Given the description of an element on the screen output the (x, y) to click on. 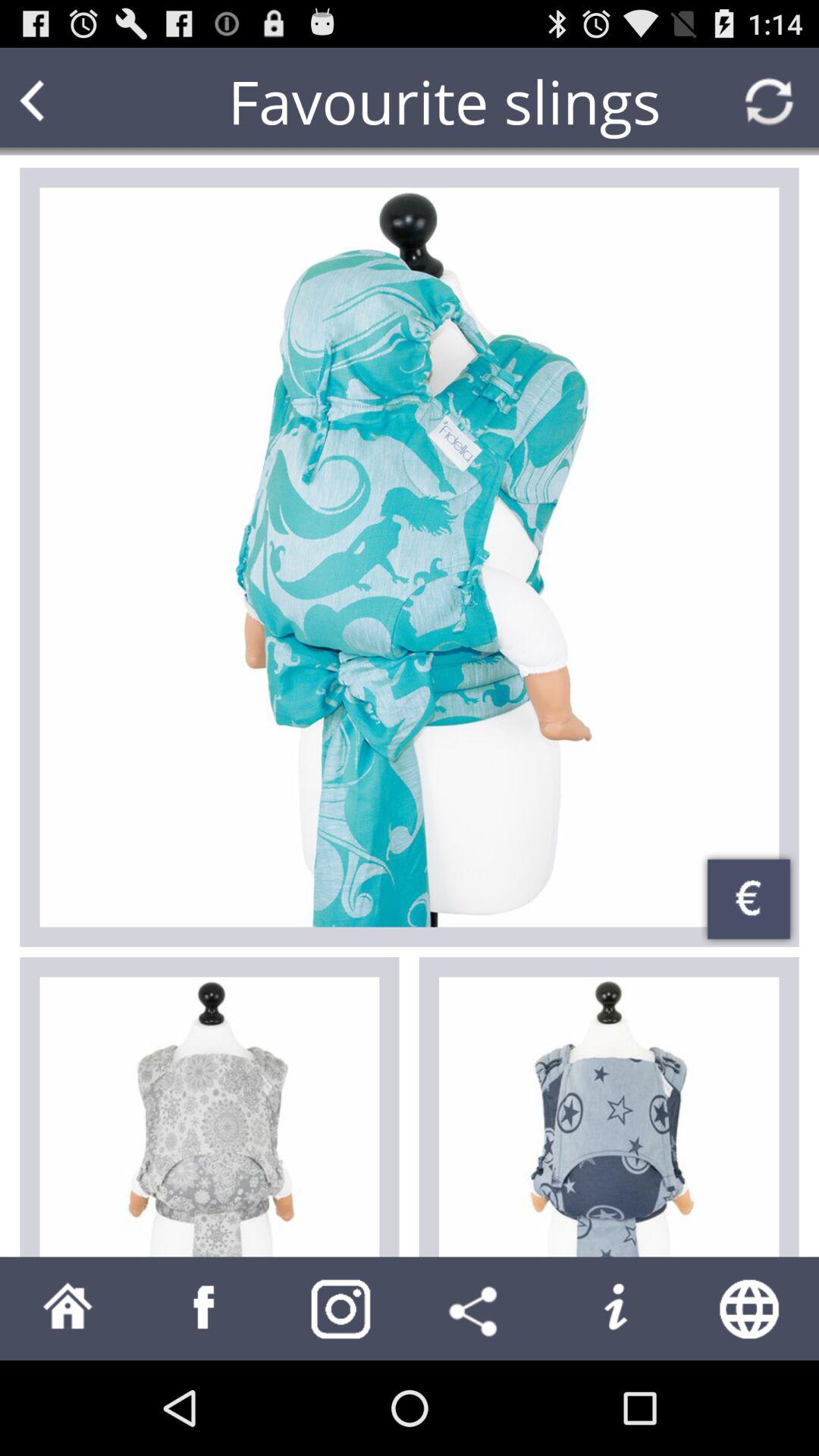
go to instagram (341, 1308)
